Given the description of an element on the screen output the (x, y) to click on. 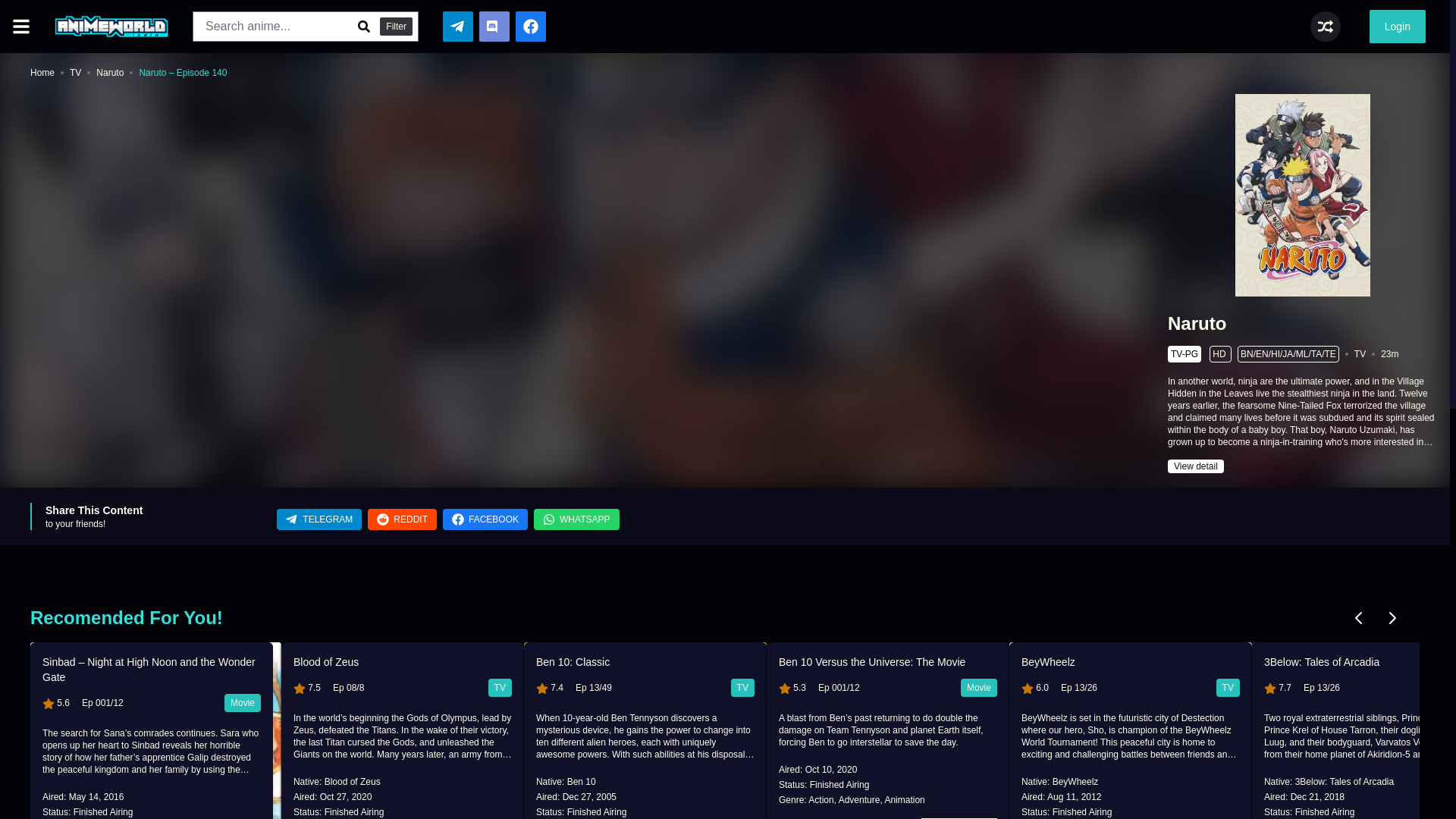
I'm feeling lucky! (1325, 26)
Filter (396, 26)
